Given the description of an element on the screen output the (x, y) to click on. 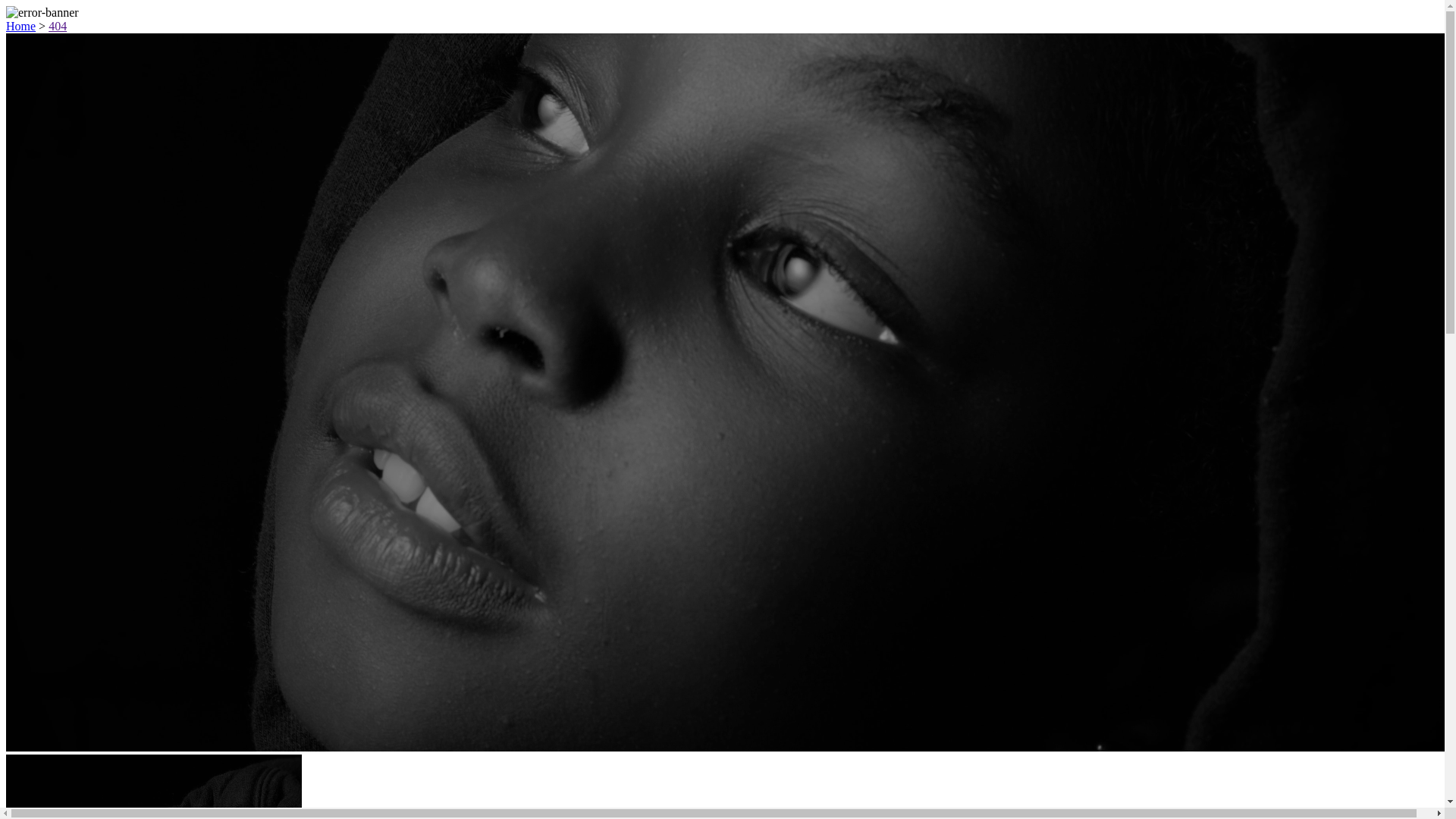
404 Element type: text (57, 25)
Home Element type: text (20, 25)
